Given the description of an element on the screen output the (x, y) to click on. 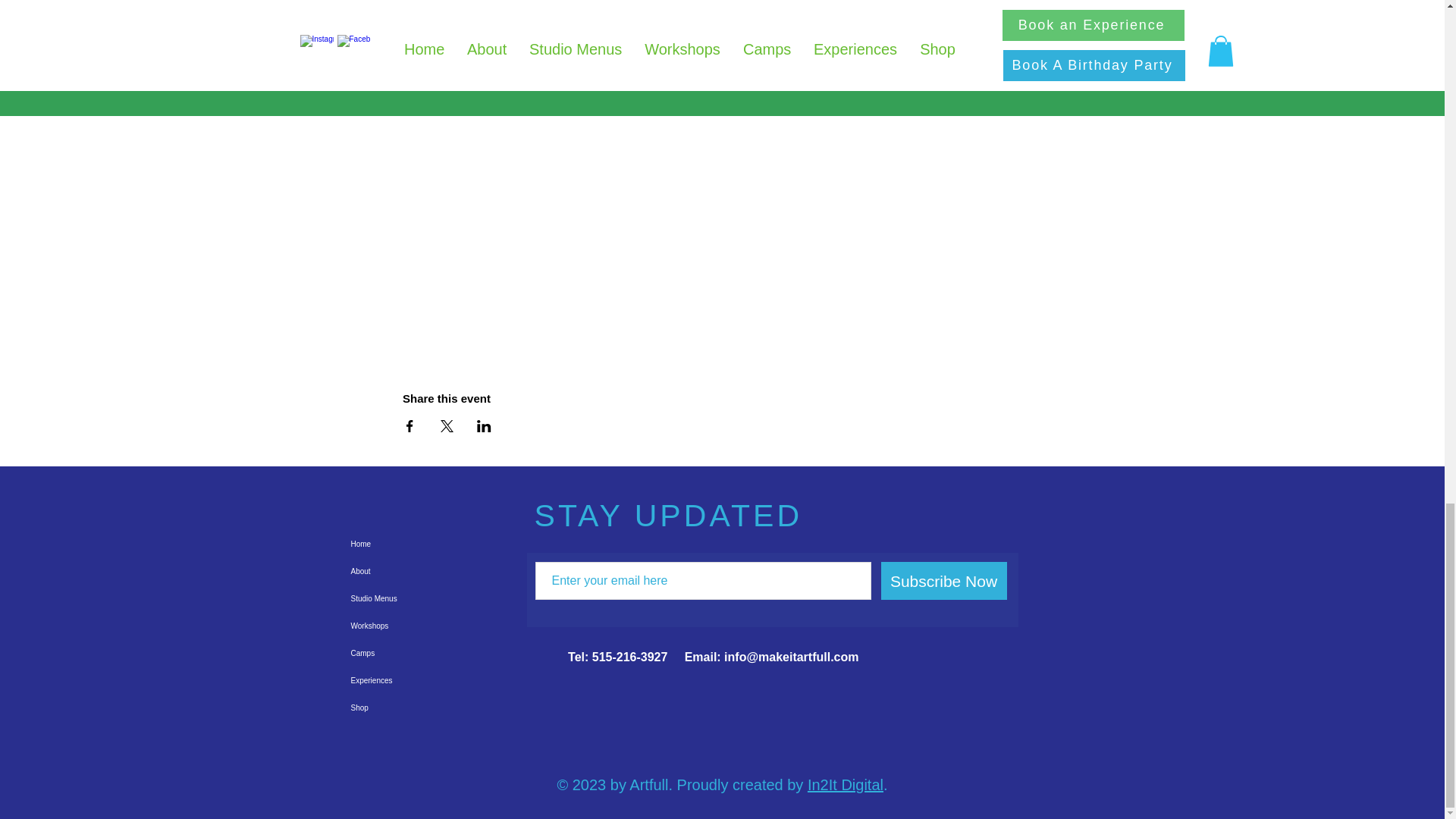
Studio Menus (388, 598)
About (388, 571)
Experiences (388, 680)
Subscribe Now (943, 580)
Camps (388, 653)
Shop (388, 707)
Workshops (388, 625)
Home (388, 543)
Checkout (914, 28)
